Given the description of an element on the screen output the (x, y) to click on. 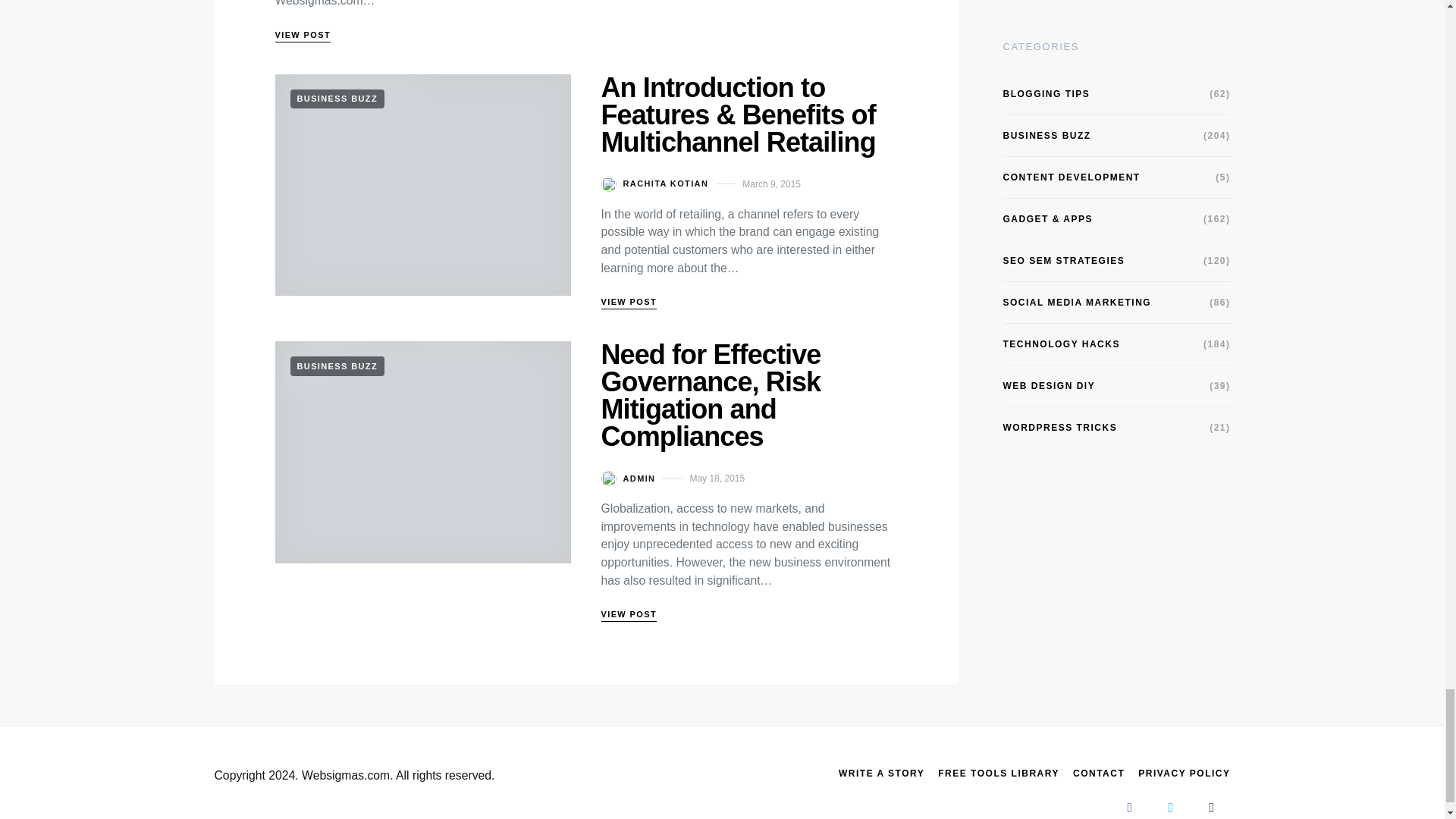
View all posts by Rachita Kotian (653, 183)
View all posts by Admin (627, 478)
